Given the description of an element on the screen output the (x, y) to click on. 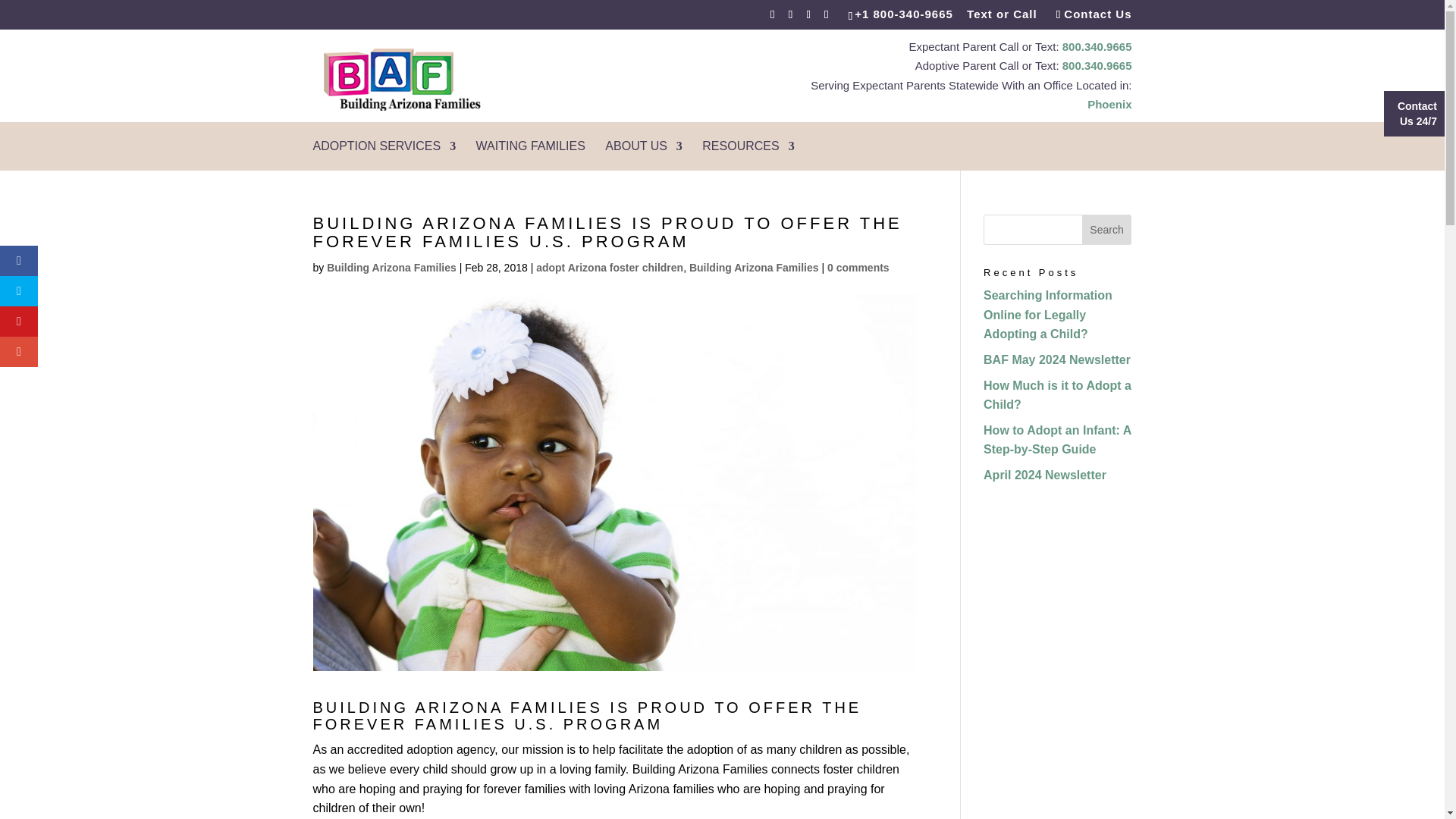
800.340.9665 (1097, 45)
WAITING FAMILIES (530, 155)
Phoenix (1109, 103)
Text or Call (1001, 13)
Search (1106, 229)
ADOPTION SERVICES (384, 155)
Posts by Building Arizona Families (391, 267)
800.340.9665 (1097, 65)
Contact Us (1086, 13)
ABOUT US (643, 155)
RESOURCES (747, 155)
